Given the description of an element on the screen output the (x, y) to click on. 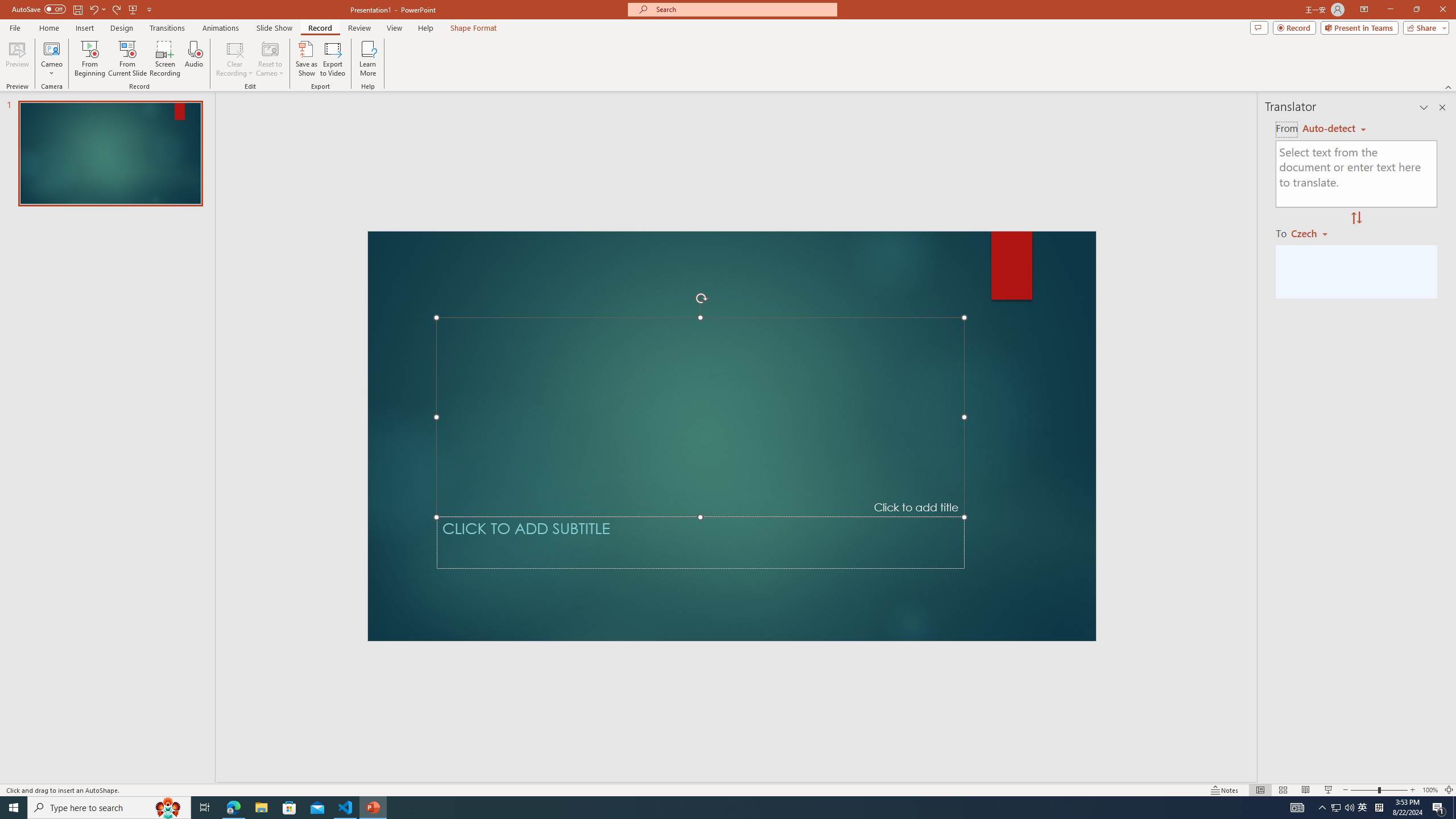
Czech (1313, 232)
Save (77, 9)
Save as Show (306, 58)
Home (48, 28)
From Beginning... (89, 58)
Cameo (51, 48)
Insert (83, 28)
Design (122, 28)
Zoom In (1412, 790)
Quick Access Toolbar (82, 9)
Task Pane Options (1423, 107)
Reading View (1305, 790)
File Tab (15, 27)
